Given the description of an element on the screen output the (x, y) to click on. 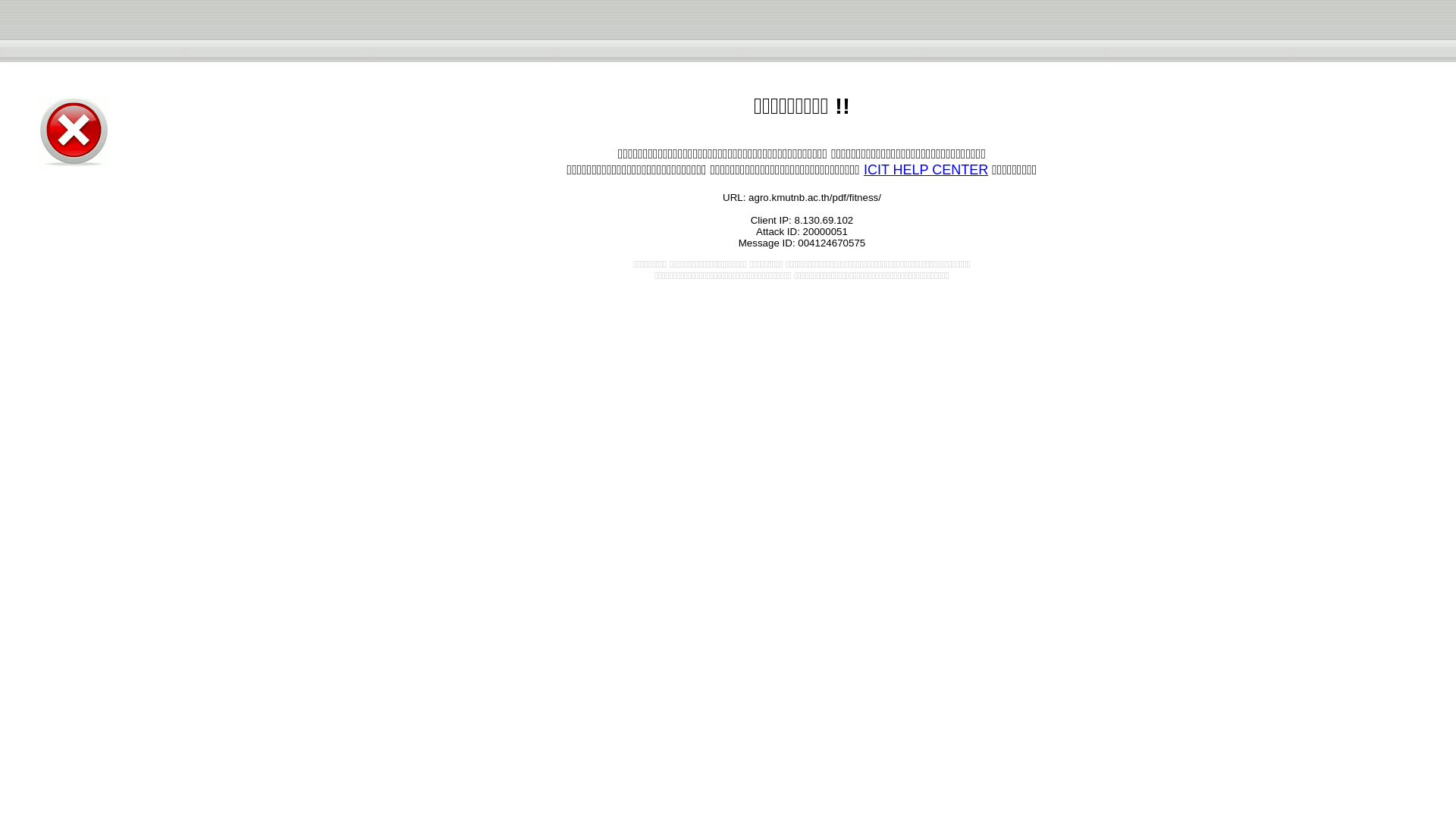
ICIT HELP CENTER (925, 169)
